Given the description of an element on the screen output the (x, y) to click on. 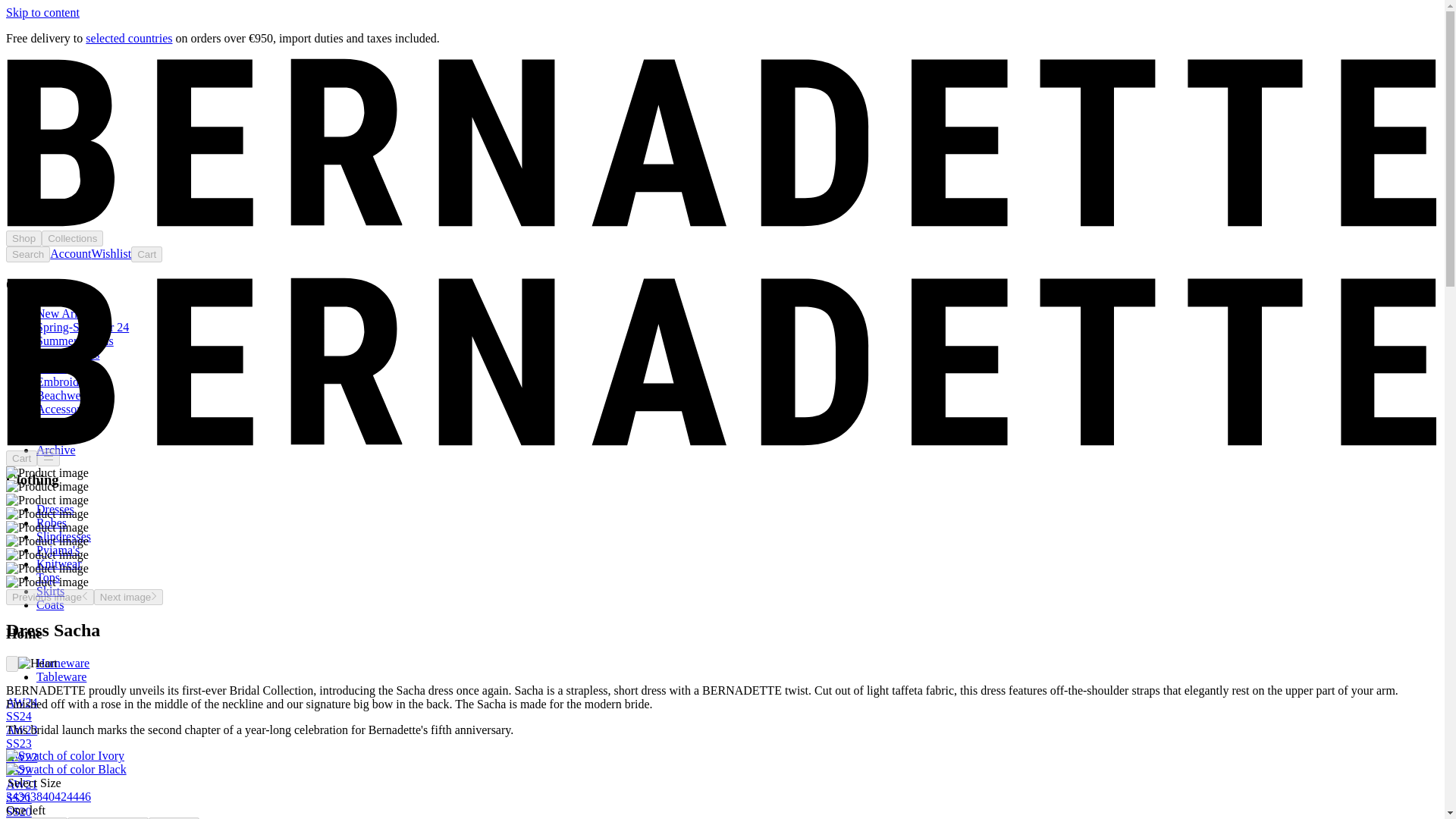
Skip to content (42, 11)
Skirts (50, 590)
Taffeta Icons (67, 354)
Coats (50, 604)
SS21 (18, 797)
SS22 (18, 770)
AW24 (21, 702)
Slipdresses (63, 535)
Menu (48, 456)
Search (27, 254)
Gift Guide (62, 422)
Shop (23, 238)
Homeware (62, 662)
Wishlist (110, 253)
Summer Linens (74, 340)
